Given the description of an element on the screen output the (x, y) to click on. 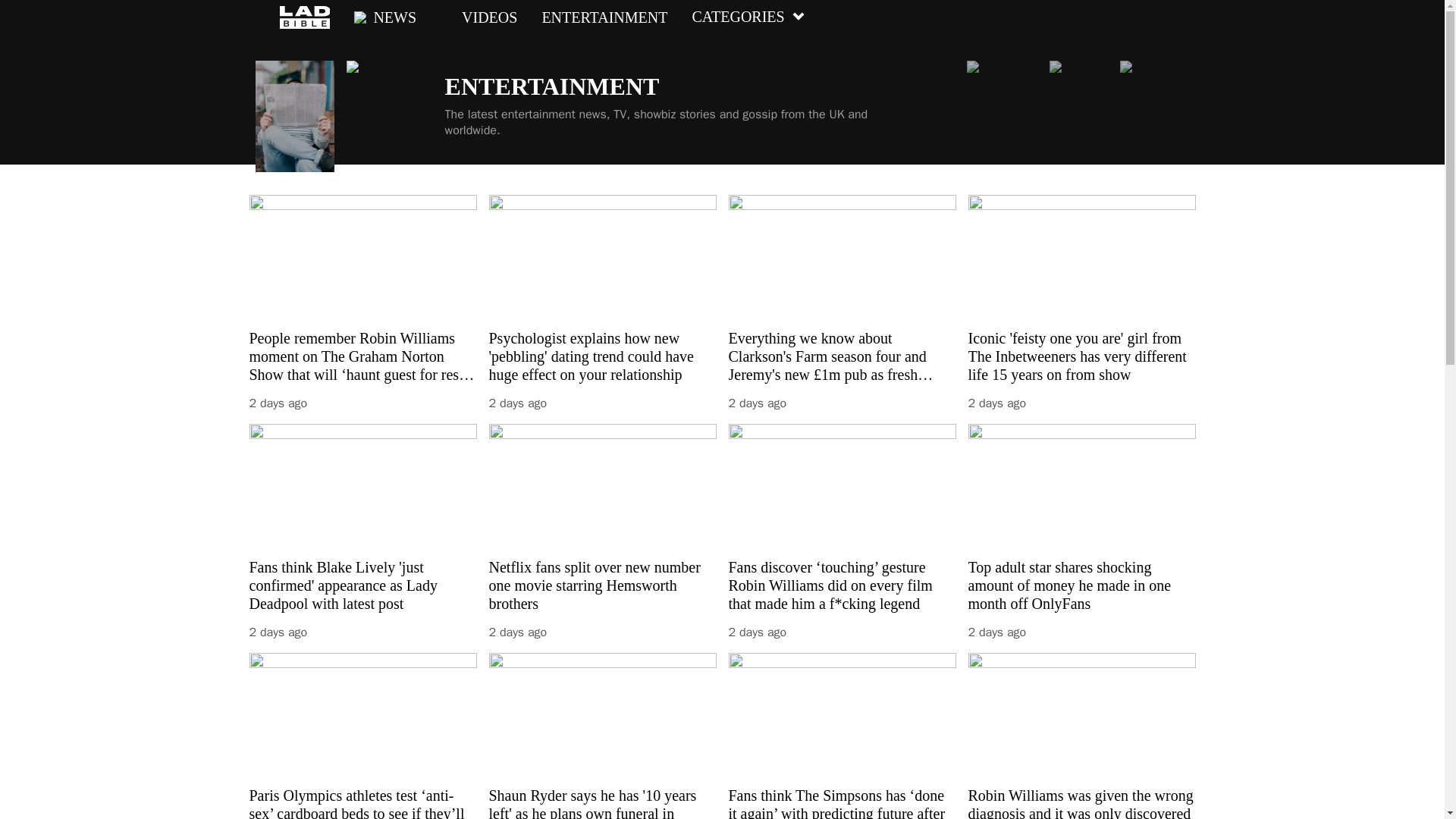
VIDEOS (478, 17)
NEWS (384, 17)
ENTERTAINMENT (603, 17)
CATEGORIES (748, 17)
